Given the description of an element on the screen output the (x, y) to click on. 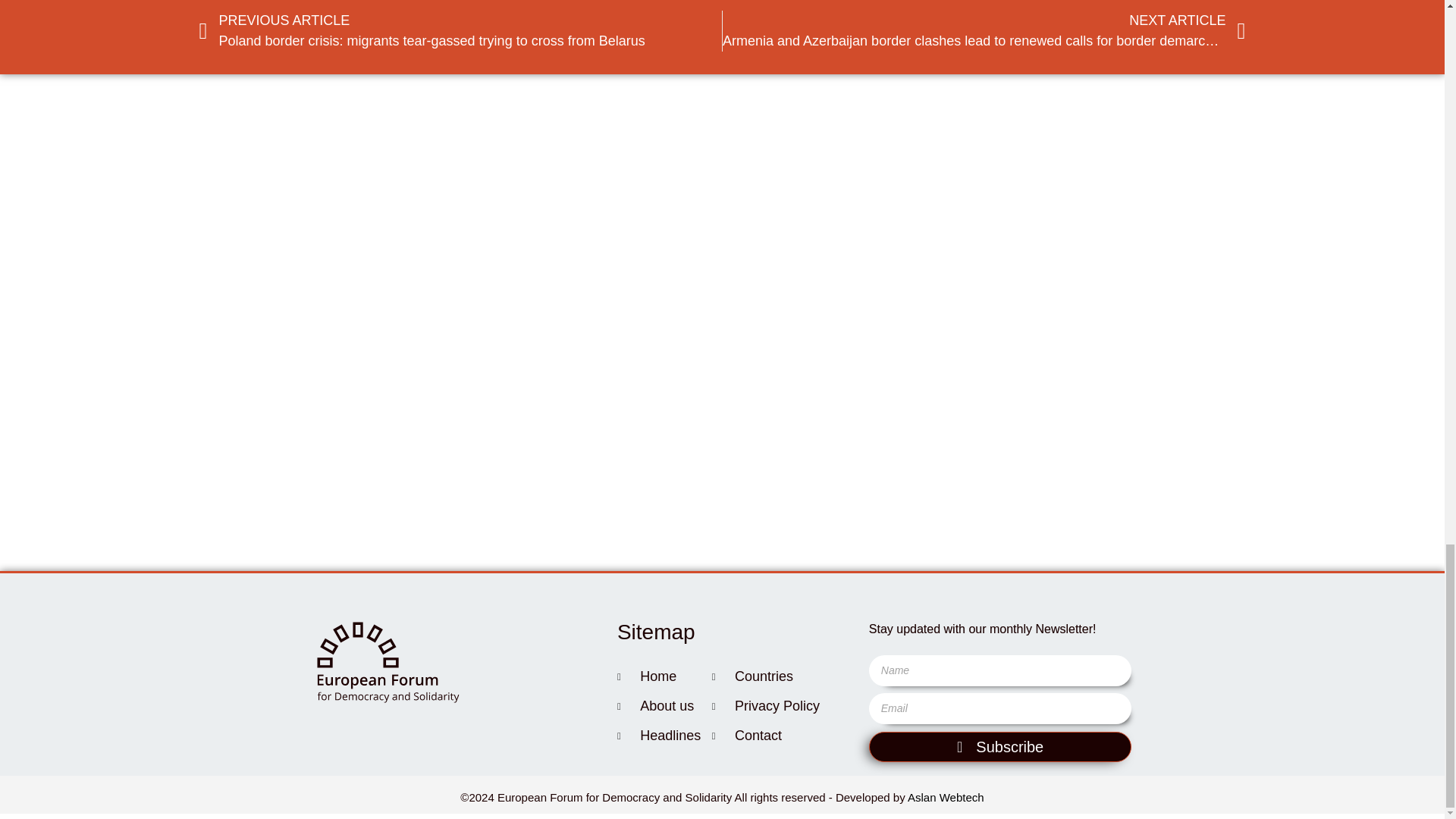
Headlines (664, 735)
About us (664, 705)
Home (664, 676)
